Given the description of an element on the screen output the (x, y) to click on. 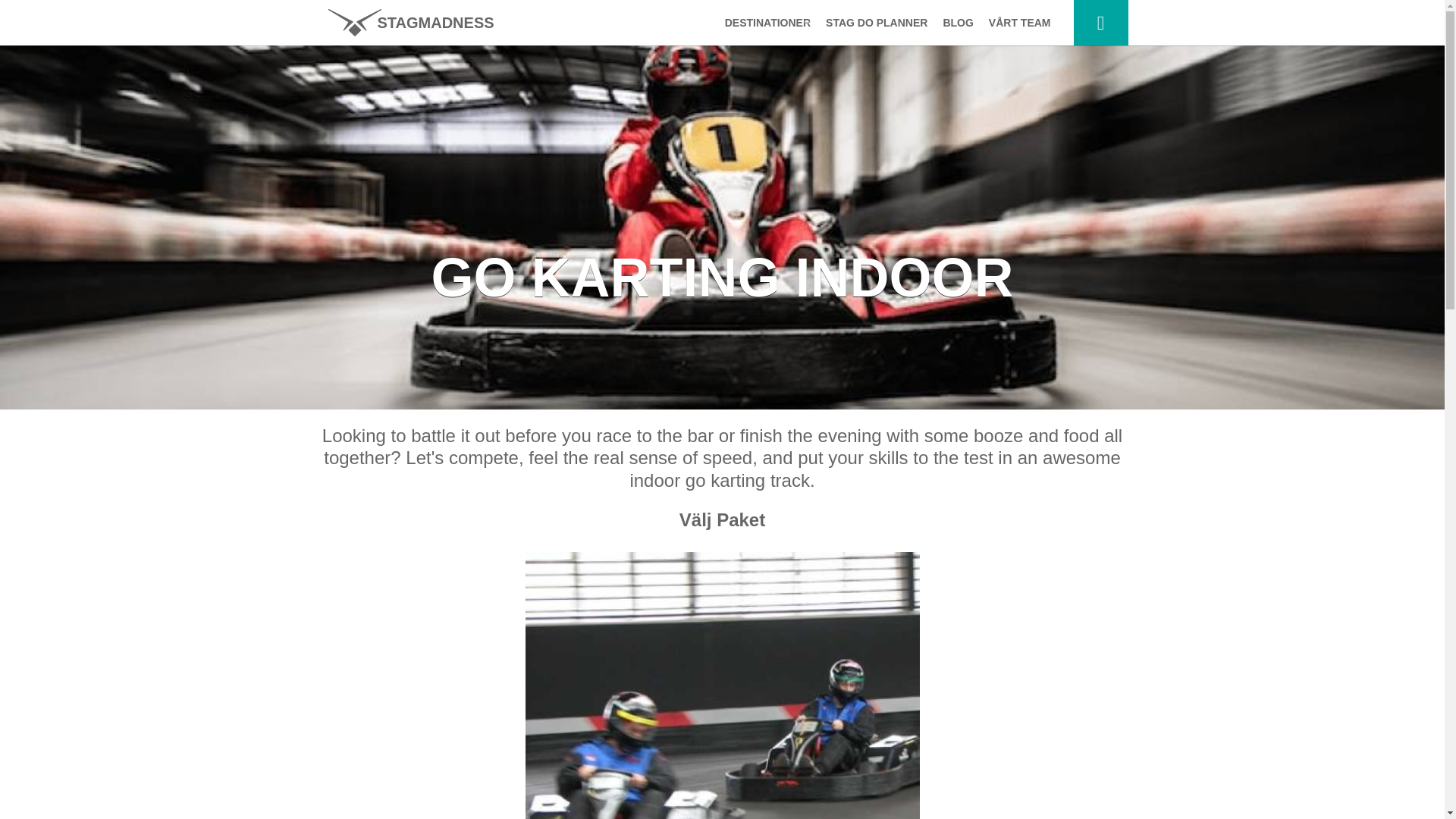
BERLIN (764, 242)
Brudgum Amsterdam (409, 22)
Stag Do Planner (876, 22)
DESTINATIONER (764, 22)
HAMBURG (764, 151)
Our stag do organizer team in  (1019, 22)
BRATISLAVA (764, 182)
RIGA (764, 272)
AMSTERDAM (764, 121)
STAGMADNESS (409, 22)
